Given the description of an element on the screen output the (x, y) to click on. 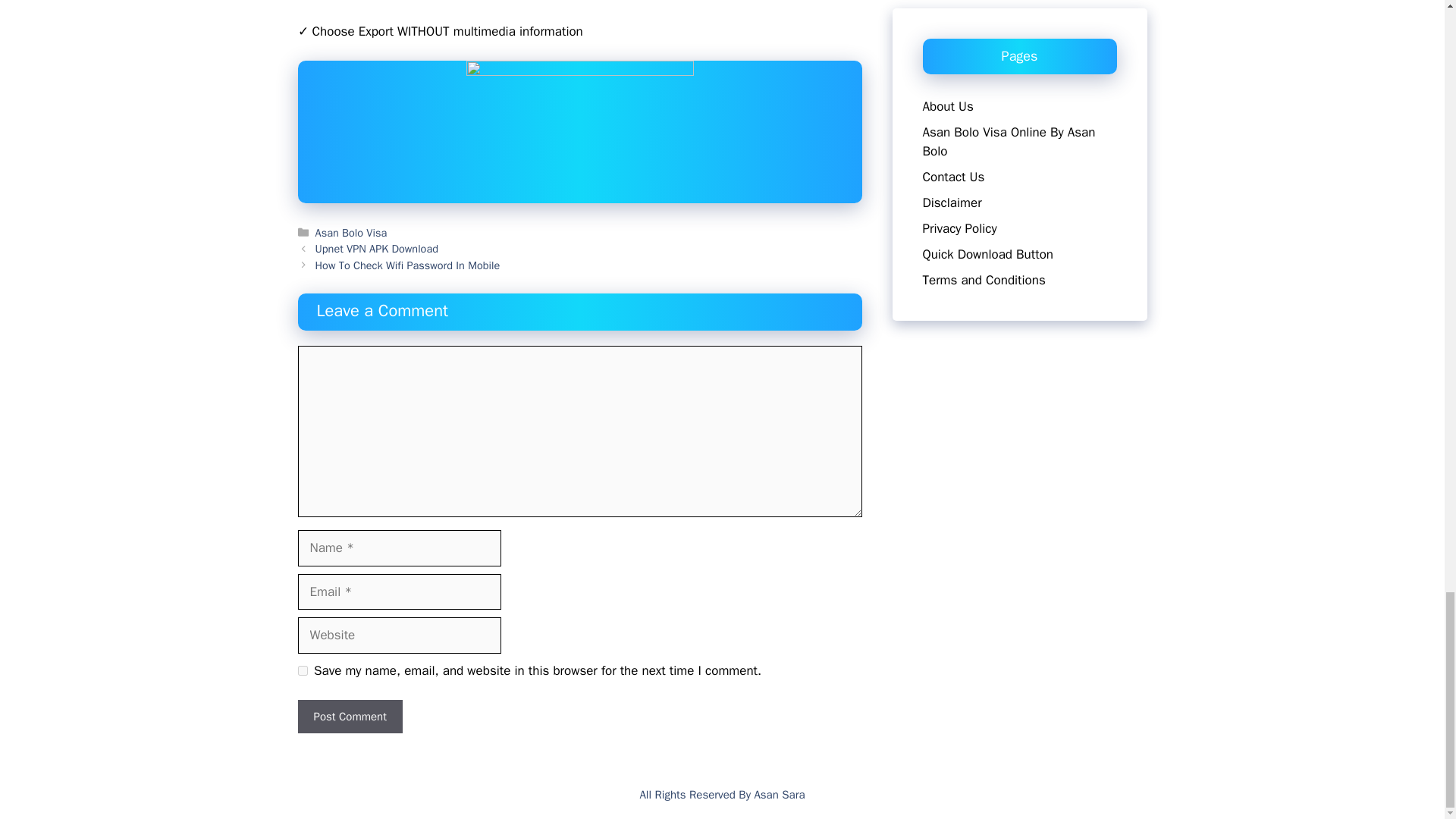
yes (302, 670)
How To Check Wifi Password In Mobile (407, 264)
Post Comment (349, 716)
Post Comment (349, 716)
Upnet VPN APK Download (376, 248)
Asan Bolo Visa (351, 232)
